Given the description of an element on the screen output the (x, y) to click on. 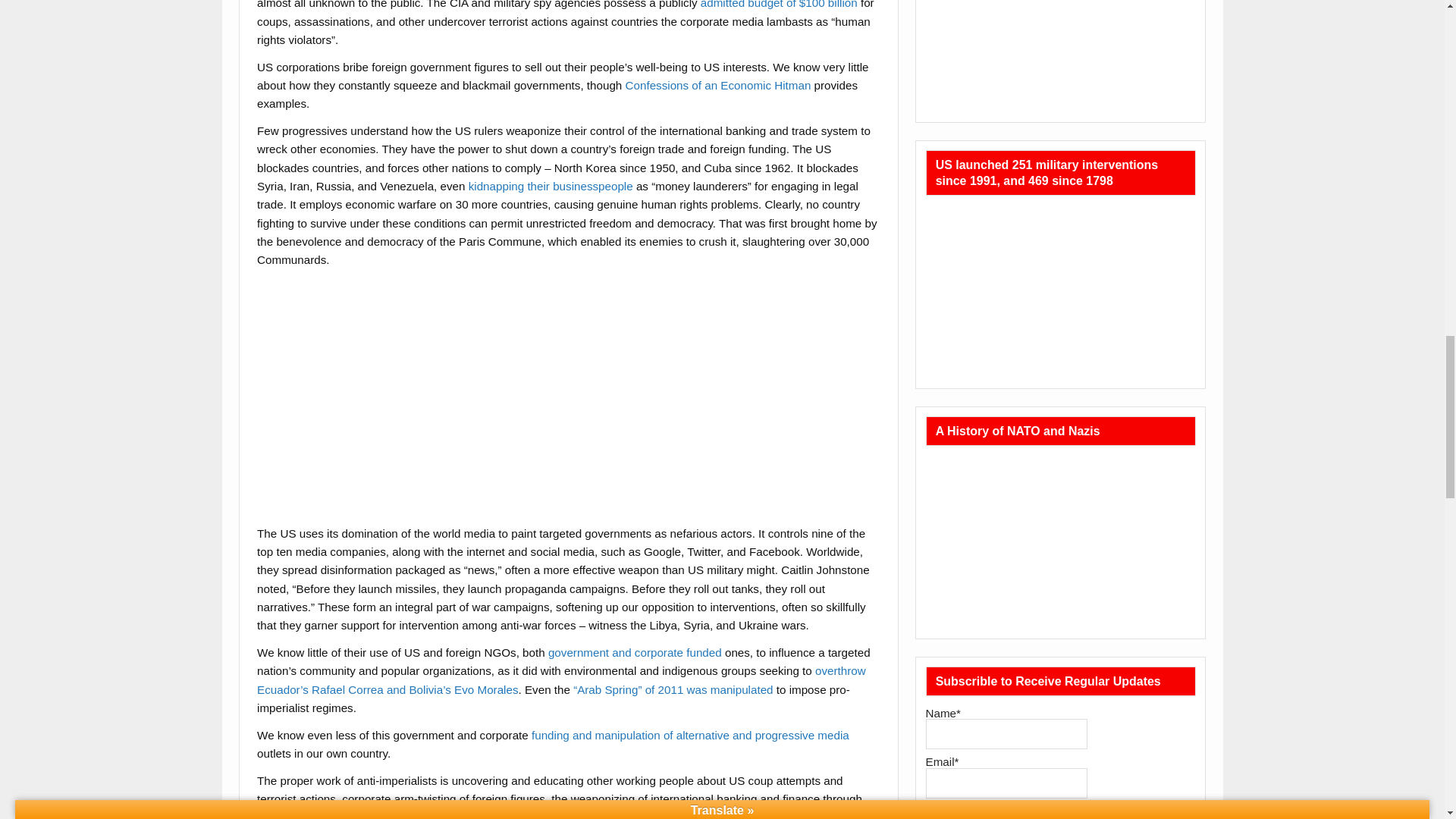
Confessions of an Economic Hitman (718, 84)
Subscribe (961, 812)
kidnapping their businesspeople (550, 185)
